Given the description of an element on the screen output the (x, y) to click on. 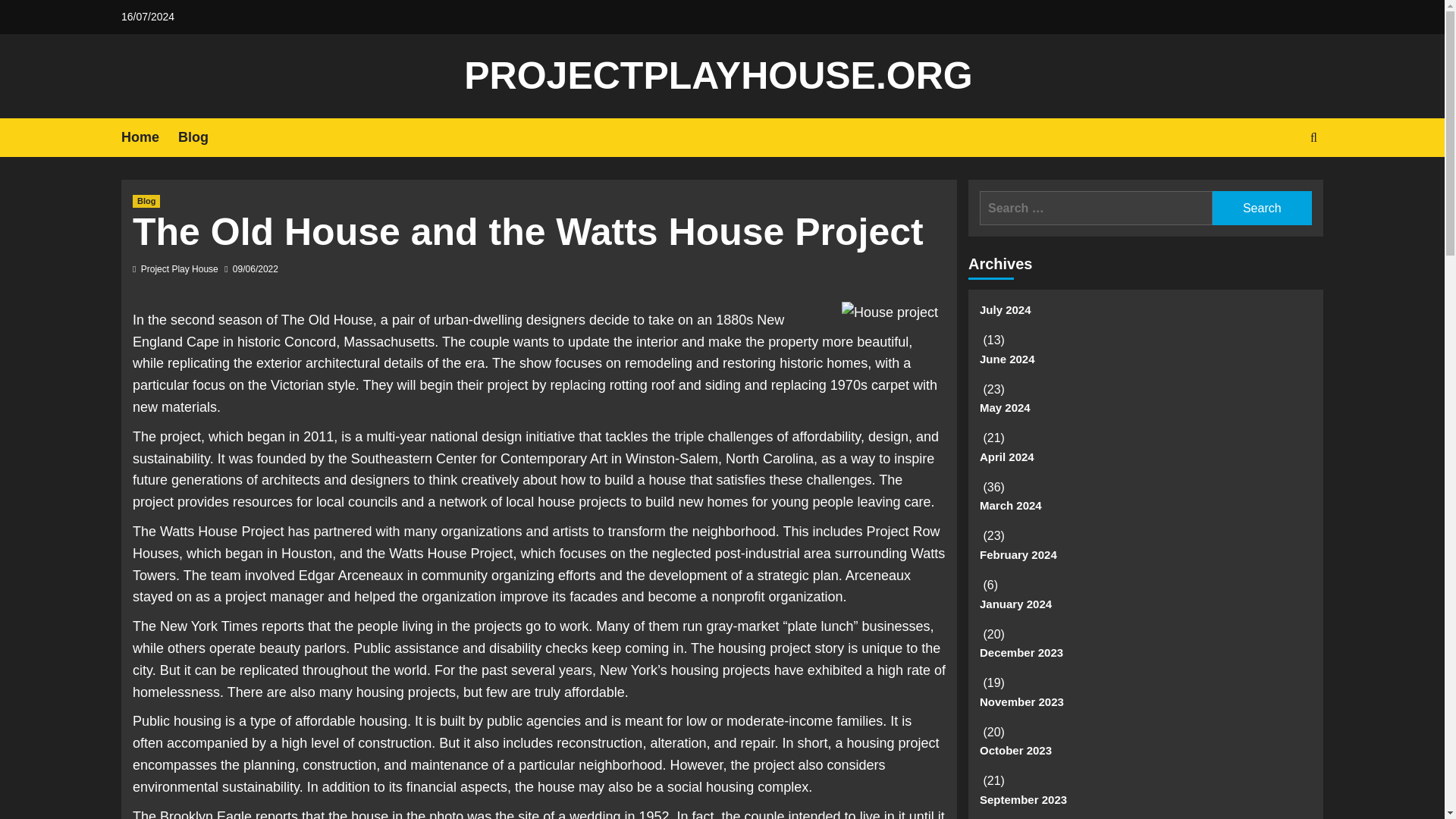
April 2024 (1145, 462)
Blog (202, 137)
October 2023 (1145, 756)
December 2023 (1145, 658)
March 2024 (1145, 511)
May 2024 (1145, 413)
Home (148, 137)
January 2024 (1145, 609)
Search (1261, 207)
June 2024 (1145, 365)
July 2024 (1145, 315)
Search (1261, 207)
Project Play House (179, 268)
February 2024 (1145, 560)
November 2023 (1145, 707)
